Given the description of an element on the screen output the (x, y) to click on. 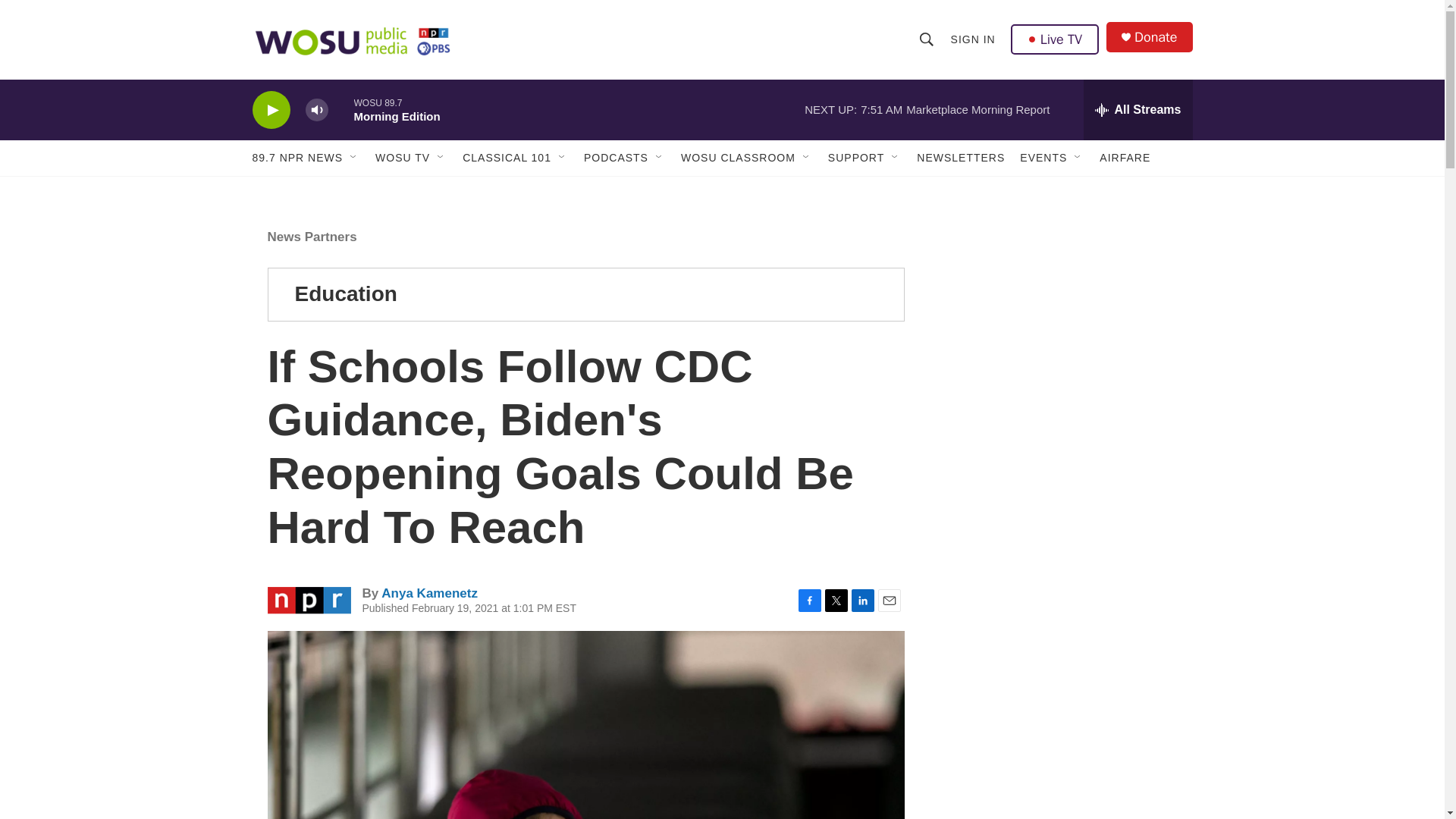
3rd party ad content (1062, 316)
3rd party ad content (1062, 536)
